Given the description of an element on the screen output the (x, y) to click on. 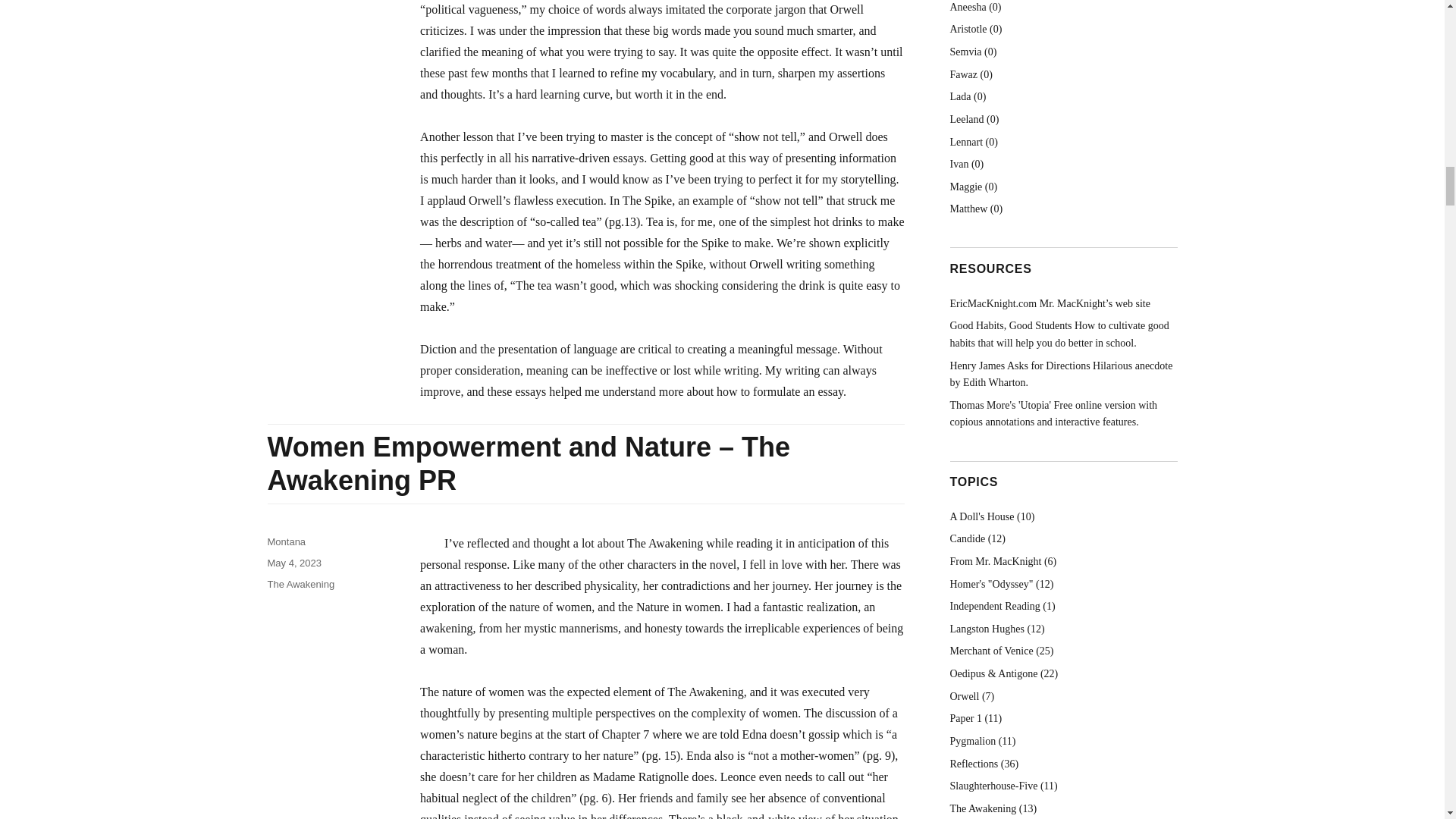
The Awakening (300, 583)
Montana (285, 541)
May 4, 2023 (293, 562)
